Given the description of an element on the screen output the (x, y) to click on. 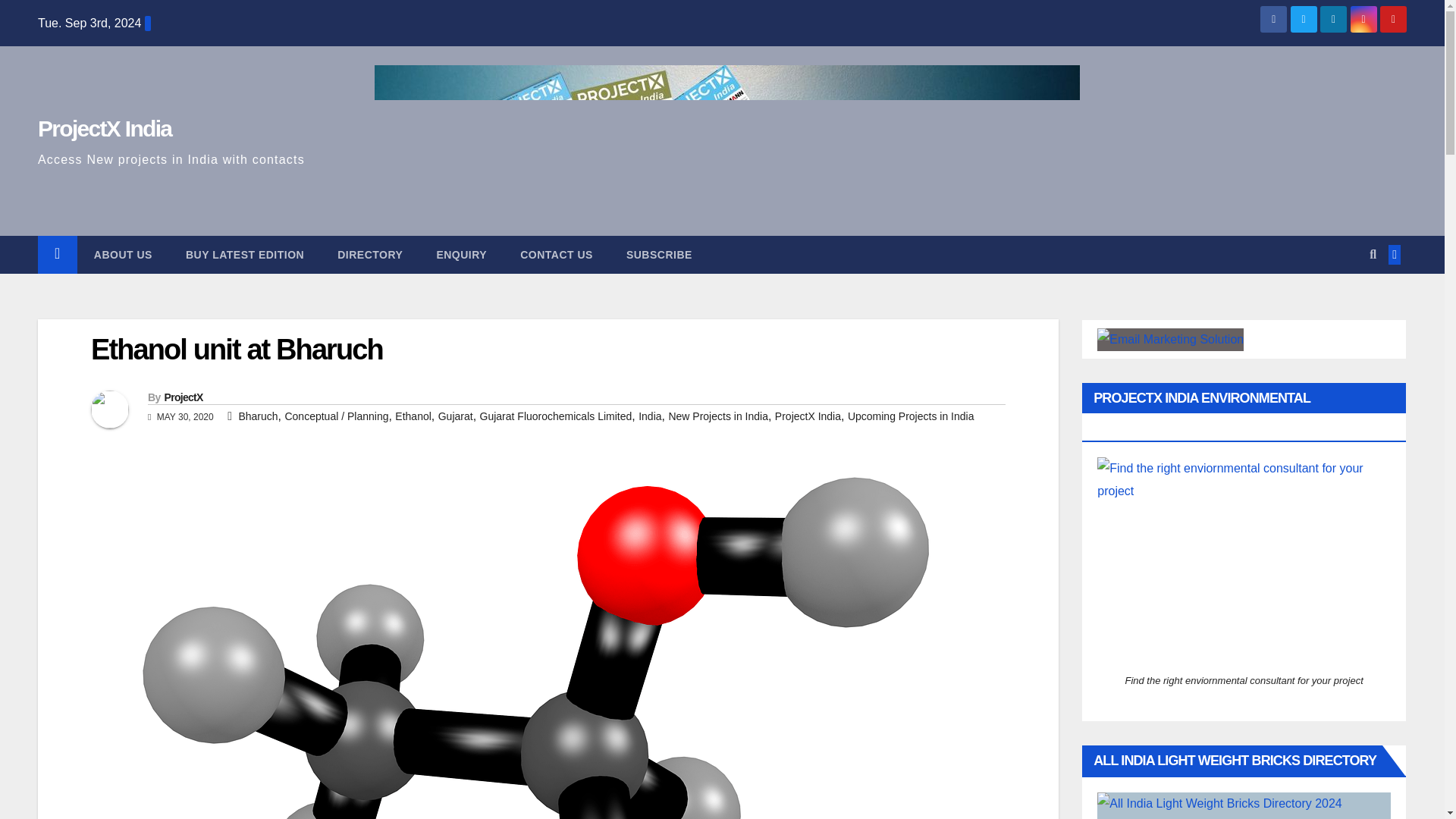
Bharuch (258, 416)
About Us (122, 254)
Directory (369, 254)
ProjectX India (104, 128)
Enquiry (461, 254)
ProjectX (182, 397)
Gujarat (455, 416)
BUY LATEST EDITION (244, 254)
ABOUT US (122, 254)
Subscribe (659, 254)
